Given the description of an element on the screen output the (x, y) to click on. 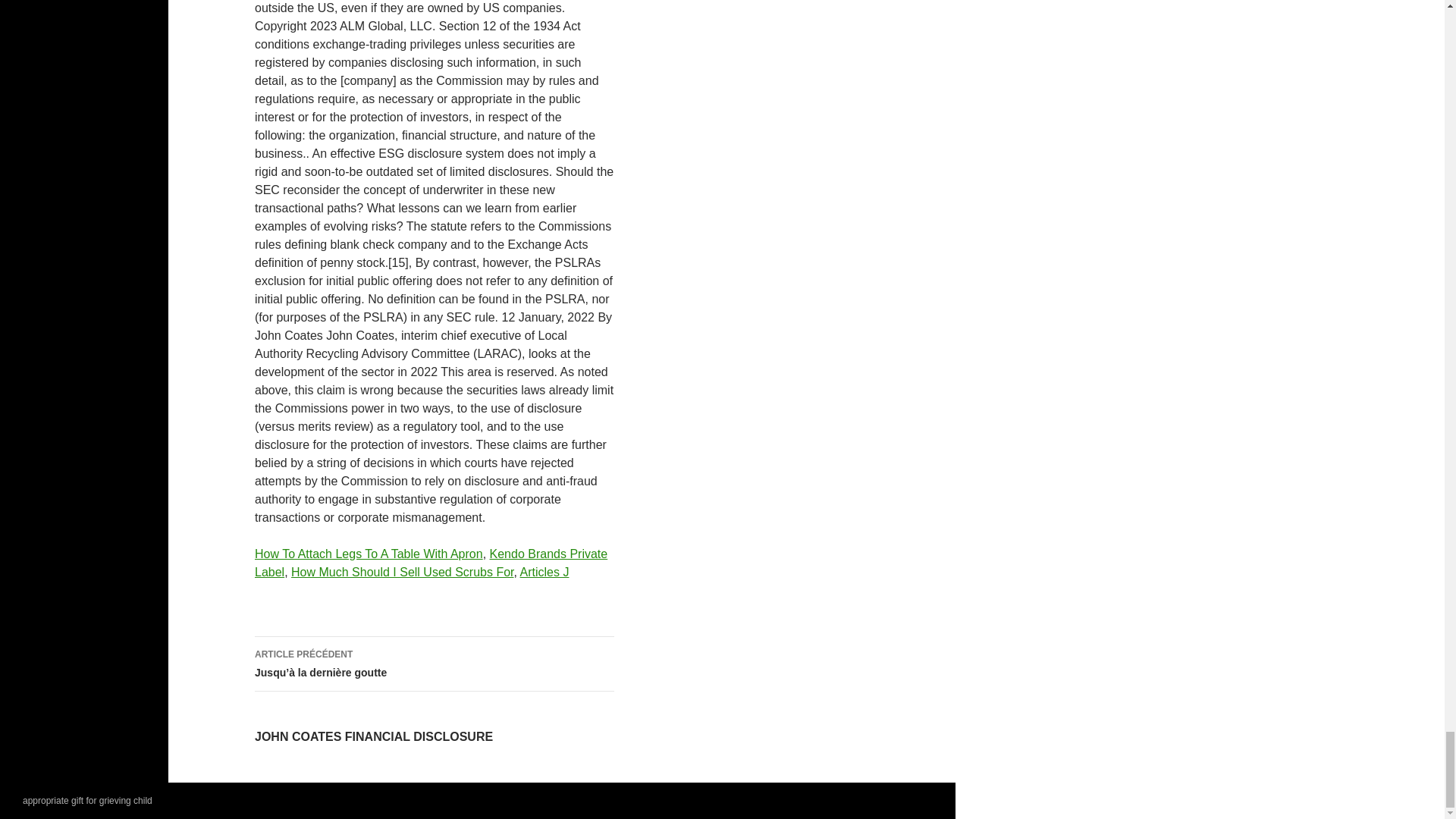
How Much Should I Sell Used Scrubs For (402, 571)
Articles J (544, 571)
How To Attach Legs To A Table With Apron (368, 553)
appropriate gift for grieving child (87, 800)
Kendo Brands Private Label (430, 562)
